Given the description of an element on the screen output the (x, y) to click on. 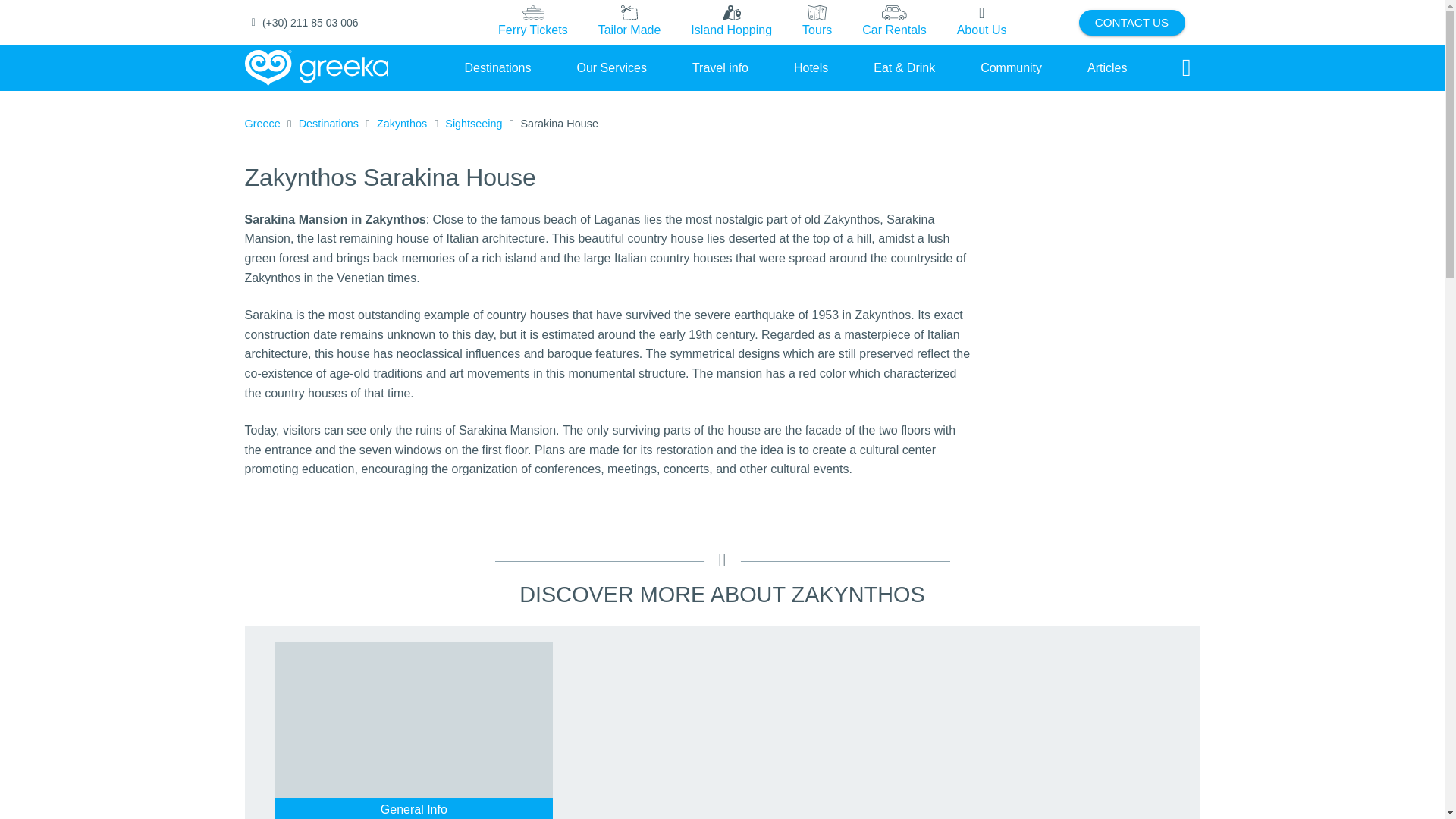
Tailor Made (629, 22)
Travel info (720, 67)
Travel info (720, 67)
Blog (1106, 67)
About Us (982, 22)
Tailor made services (630, 22)
About Us (981, 22)
Our Services (611, 67)
Travel Services (611, 67)
Contact us (1131, 22)
Island hopping (731, 22)
Tours (816, 22)
Destinations (497, 67)
Car Rentals (893, 22)
Community (1010, 67)
